Given the description of an element on the screen output the (x, y) to click on. 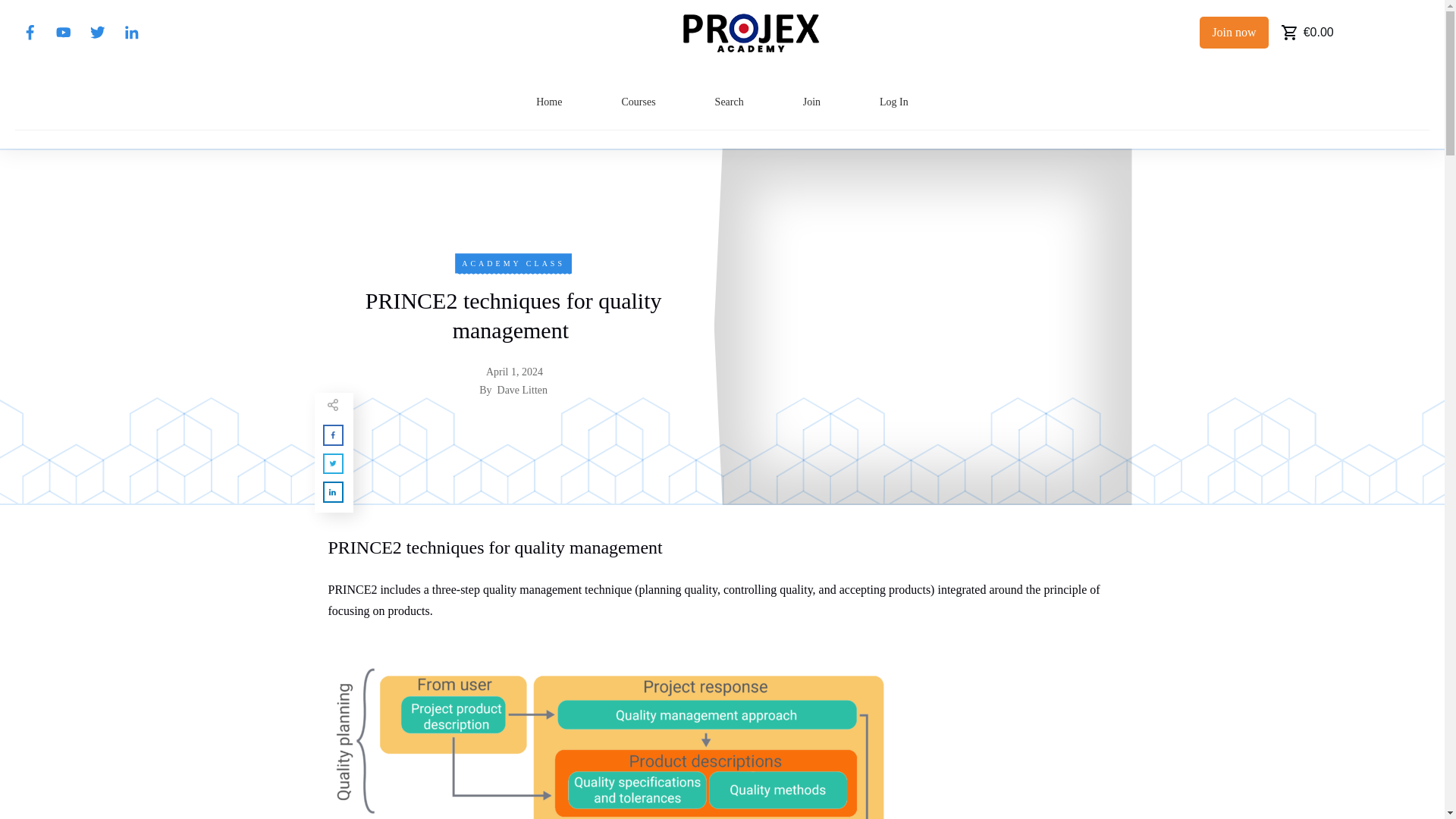
Academy Class (512, 263)
ACADEMY CLASS (512, 263)
Home (548, 102)
Courses (638, 102)
Prince2 Techniques For Quality Management (630, 735)
Join now (1233, 32)
Log In (893, 102)
Search (729, 102)
